Given the description of an element on the screen output the (x, y) to click on. 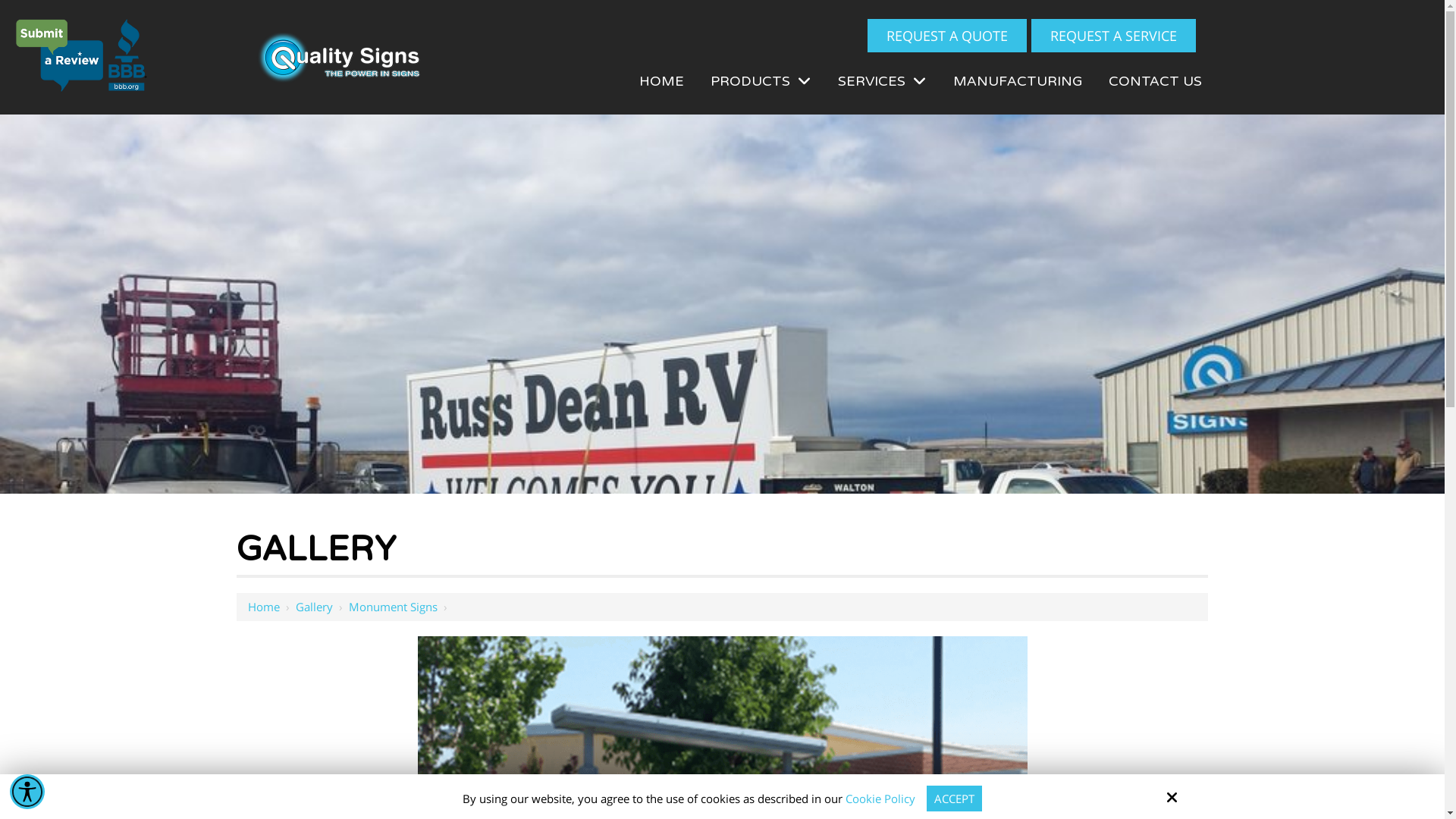
MANUFACTURING Element type: text (1017, 80)
Gallery Element type: text (313, 606)
Cookie Policy Element type: text (880, 798)
PRODUCTS Element type: text (760, 81)
REQUEST A SERVICE Element type: text (1113, 35)
Home Element type: text (263, 606)
ACCEPT Element type: text (954, 798)
Monument Signs Element type: text (392, 606)
CONTACT US Element type: text (1154, 80)
SERVICES Element type: text (882, 81)
HOME Element type: text (661, 80)
REQUEST A QUOTE Element type: text (946, 35)
